Given the description of an element on the screen output the (x, y) to click on. 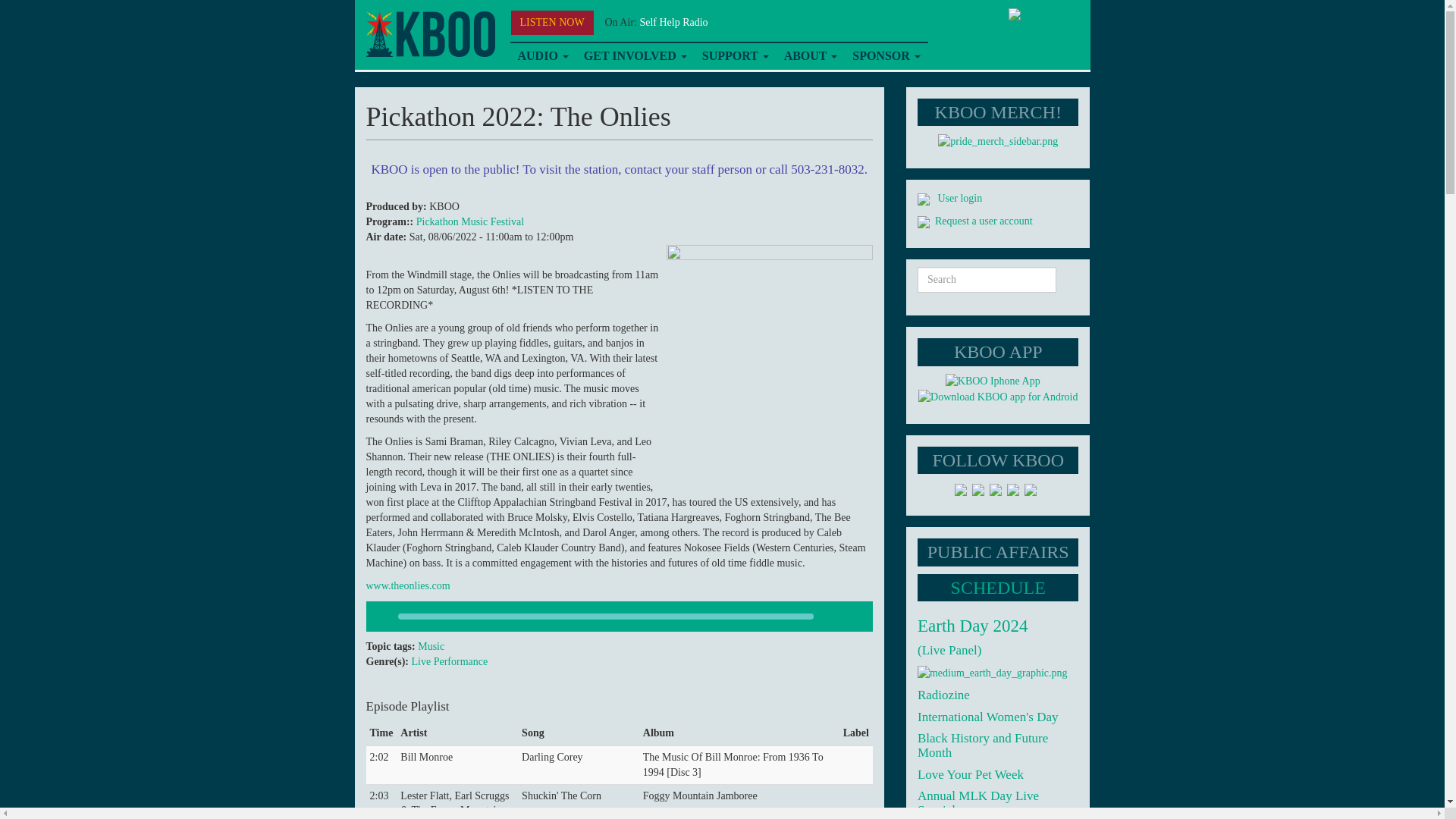
GET INVOLVED (635, 55)
LISTEN NOW (551, 22)
Self Help Radio (673, 21)
ABOUT (810, 55)
Home (430, 34)
AUDIO (542, 55)
SUPPORT (735, 55)
